Given the description of an element on the screen output the (x, y) to click on. 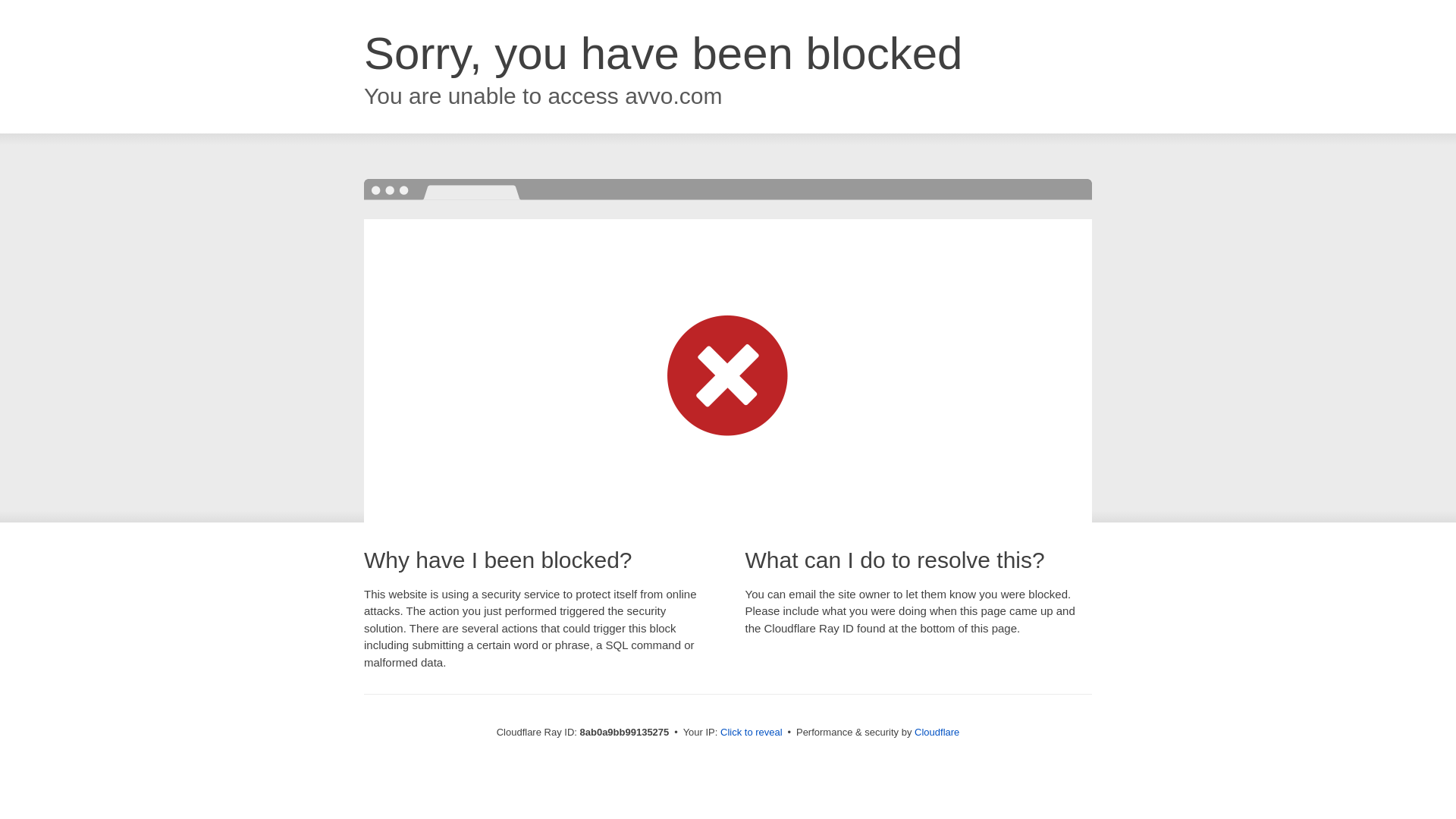
Cloudflare (936, 731)
Click to reveal (751, 732)
